Given the description of an element on the screen output the (x, y) to click on. 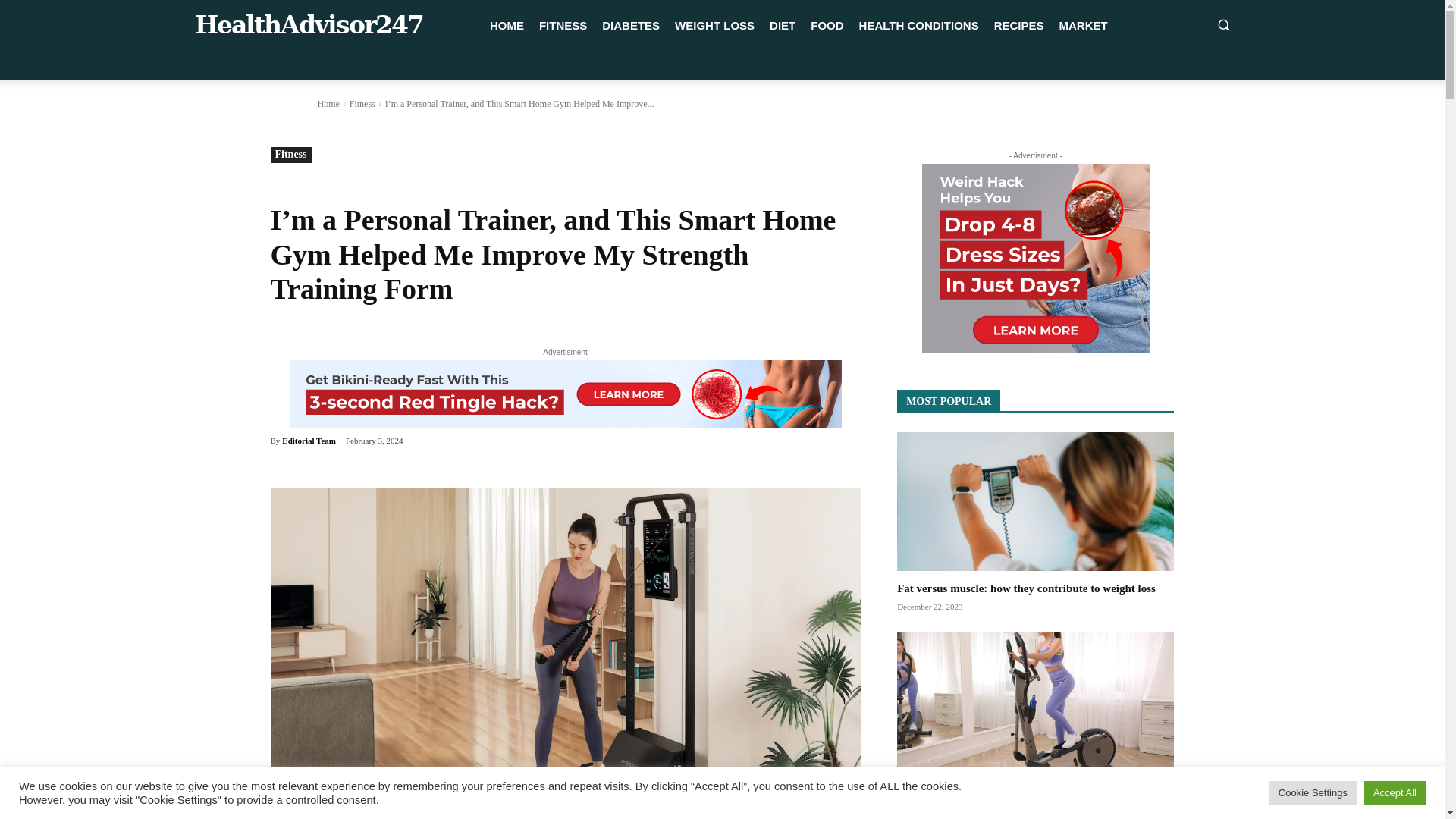
HOME (506, 25)
Fitness (362, 103)
Fitness (290, 154)
FOOD (826, 25)
RECIPES (1019, 25)
DIET (782, 25)
View all posts in Fitness (362, 103)
DIABETES (630, 25)
HEALTH CONDITIONS (919, 25)
MARKET (1083, 25)
Editorial Team (309, 440)
Home (328, 103)
FITNESS (562, 25)
WEIGHT LOSS (713, 25)
